Given the description of an element on the screen output the (x, y) to click on. 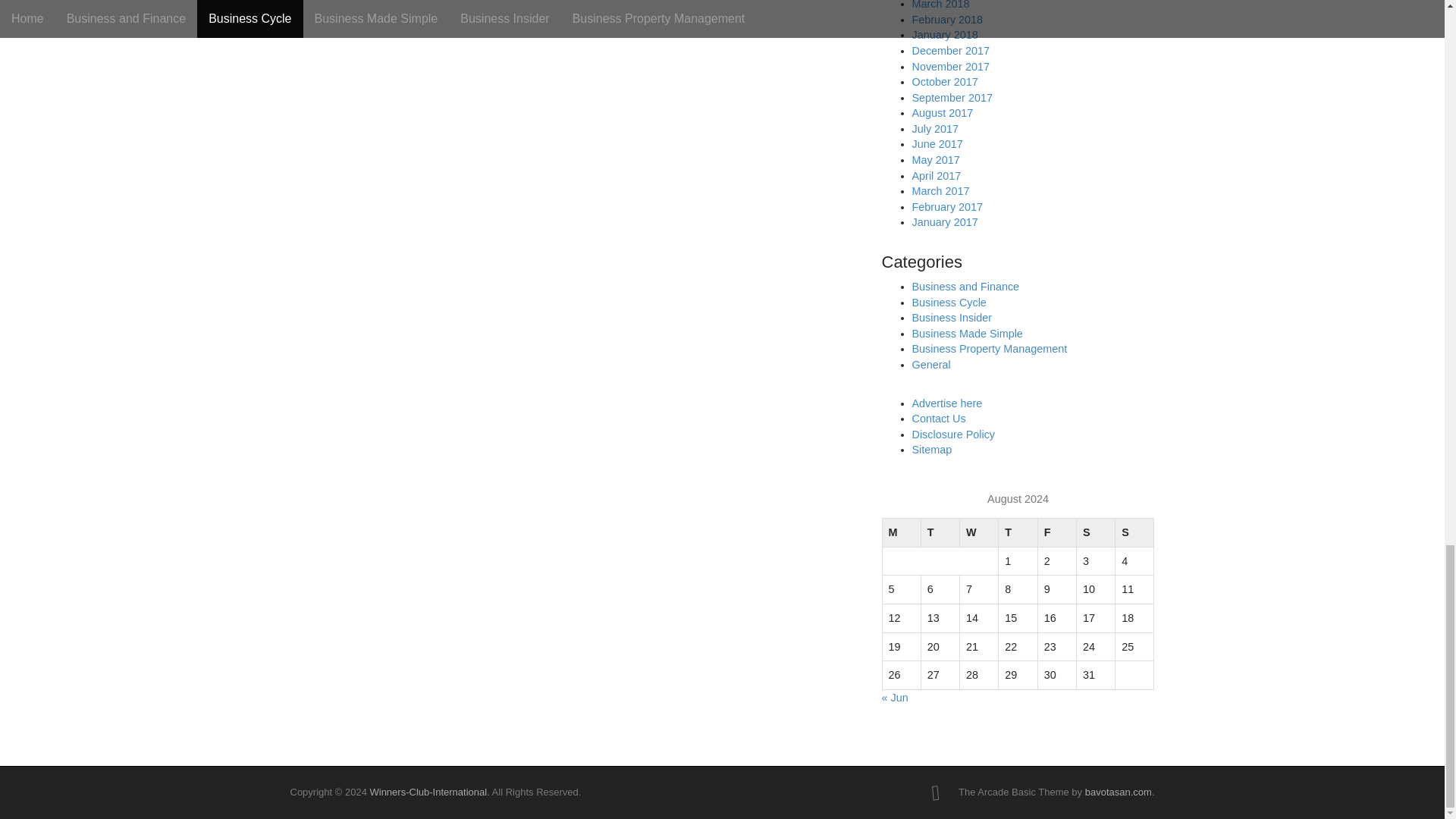
Saturday (1095, 532)
Wednesday (978, 532)
Tuesday (939, 532)
Thursday (1017, 532)
Friday (1055, 532)
Sunday (1134, 532)
Monday (901, 532)
